Given the description of an element on the screen output the (x, y) to click on. 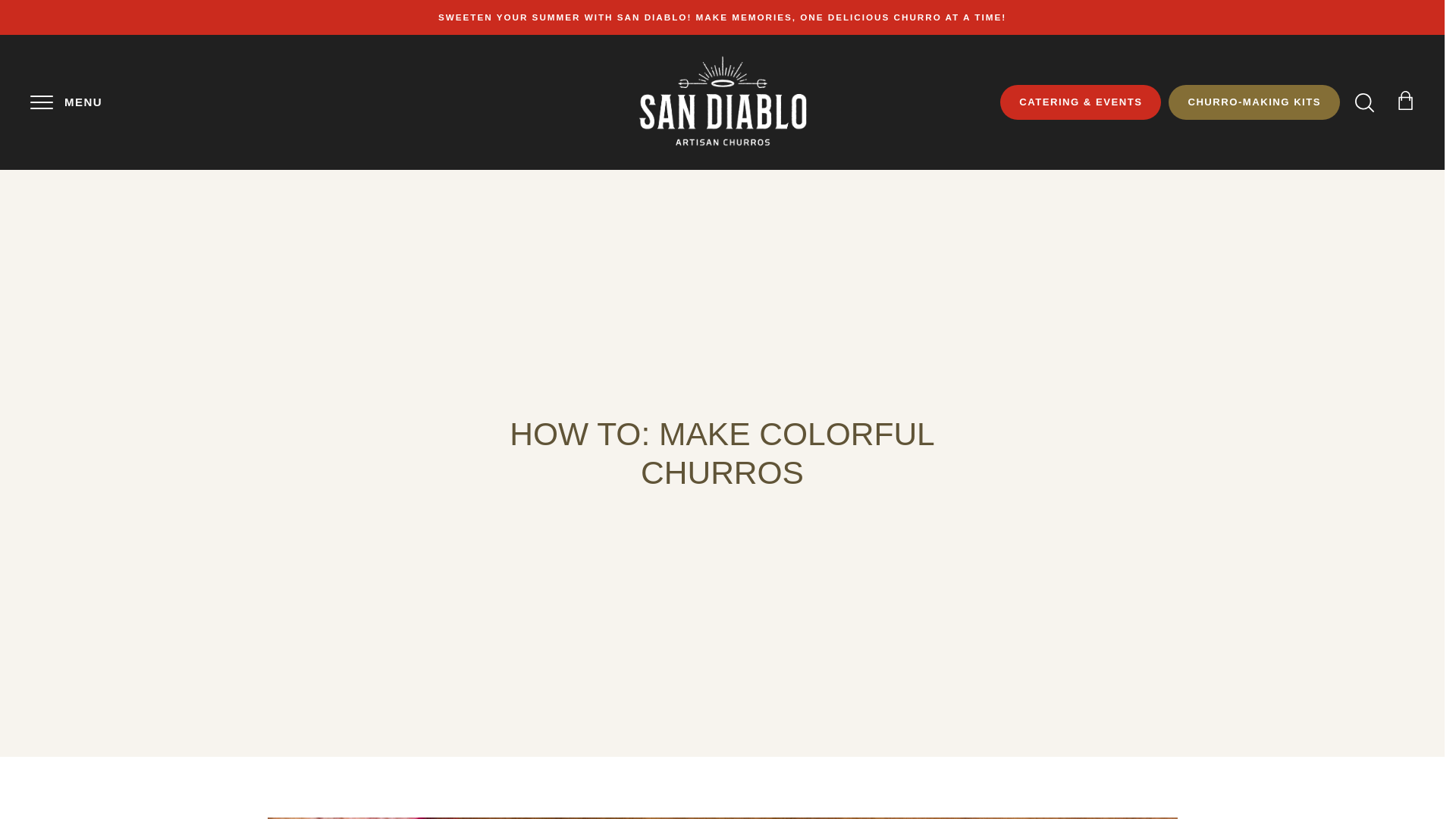
MENU (41, 101)
CHURRO-MAKING KITS (1254, 102)
